Given the description of an element on the screen output the (x, y) to click on. 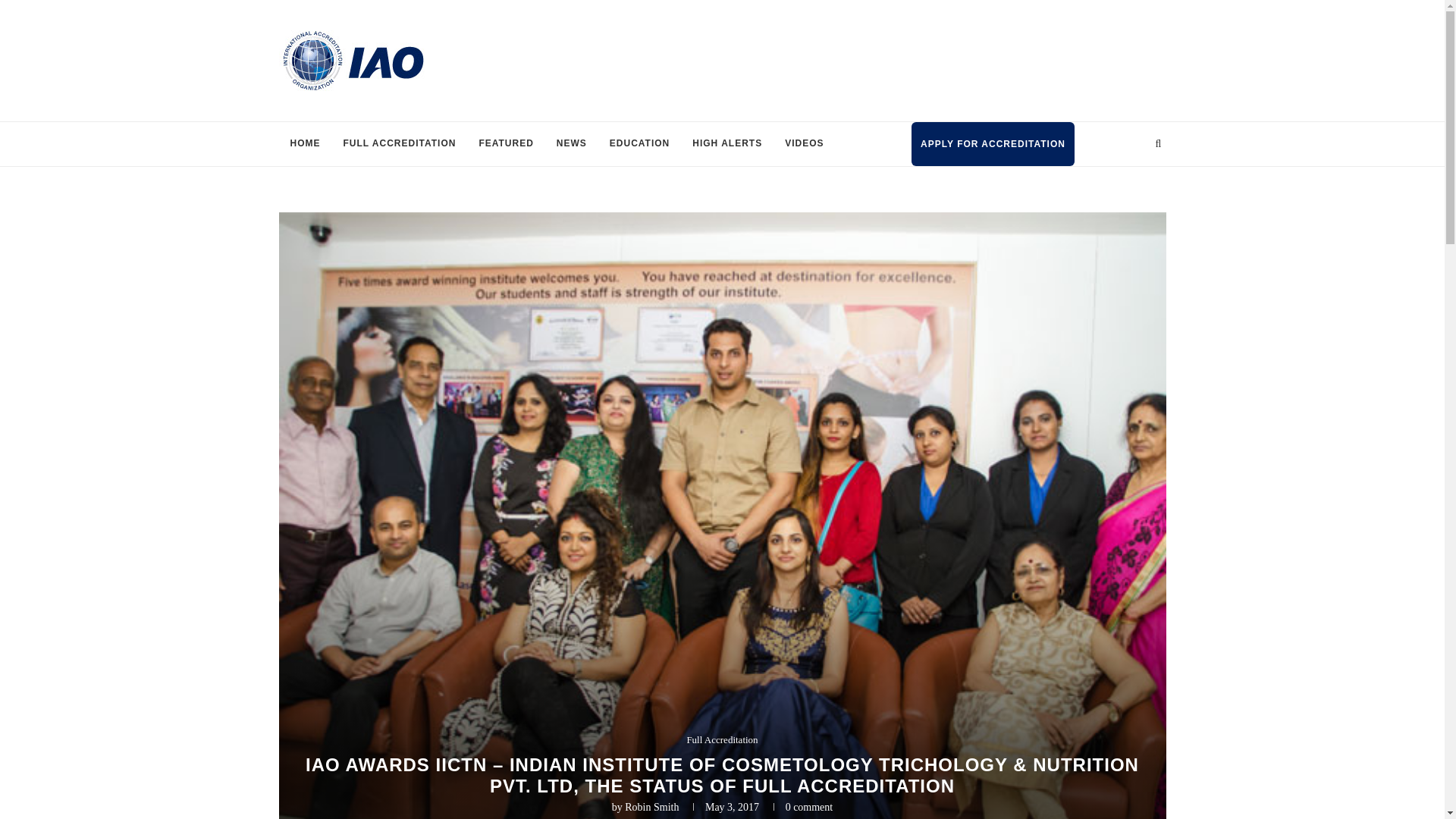
APPLY FOR ACCREDITATION (992, 144)
Full Accreditation (721, 739)
FULL ACCREDITATION (399, 144)
EDUCATION (639, 144)
HIGH ALERTS (727, 144)
VIDEOS (803, 144)
NEWS (571, 144)
Robin Smith (651, 807)
HOME (305, 144)
FEATURED (505, 144)
